Given the description of an element on the screen output the (x, y) to click on. 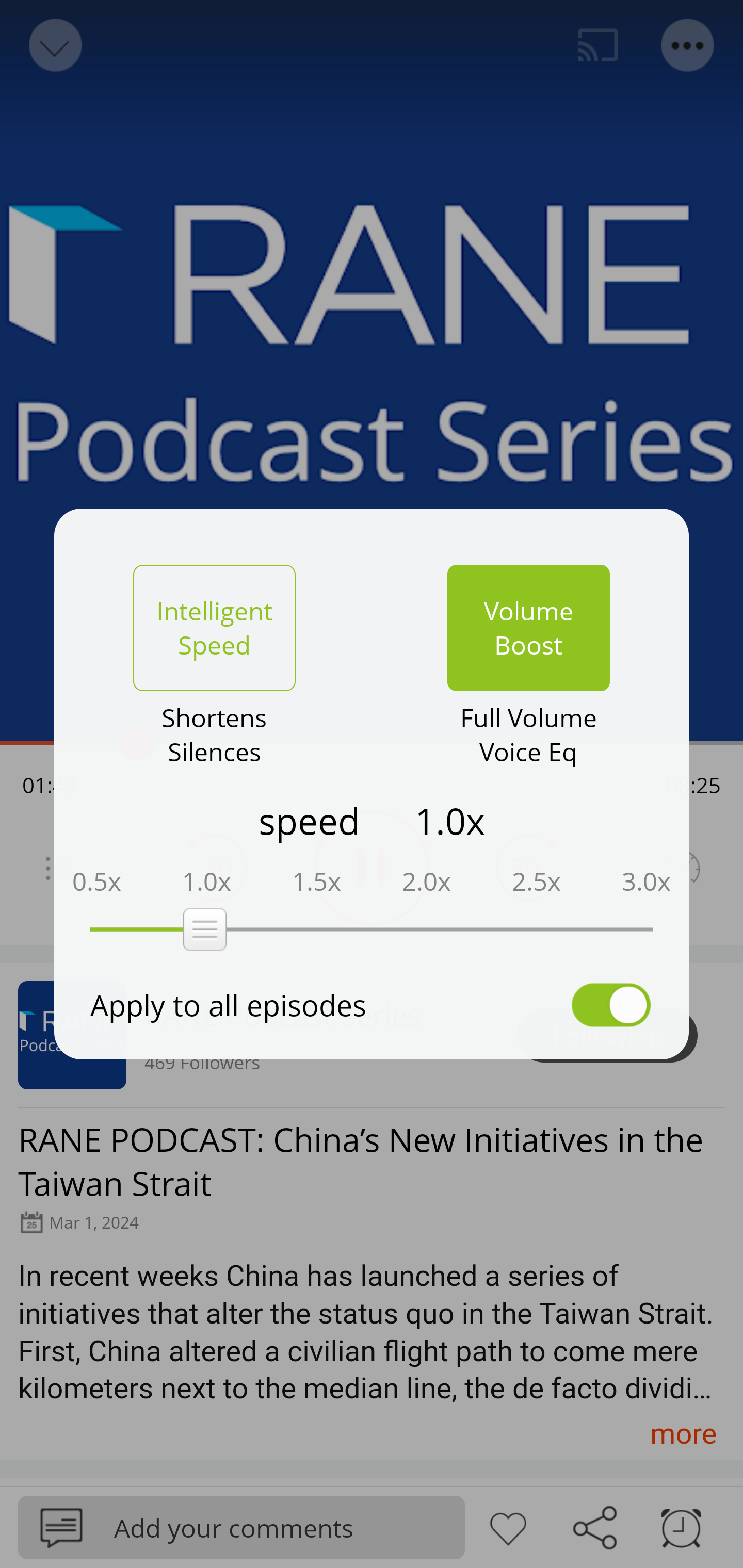
Intelligent
Speed (213, 627)
Volume
Boost (528, 627)
